Given the description of an element on the screen output the (x, y) to click on. 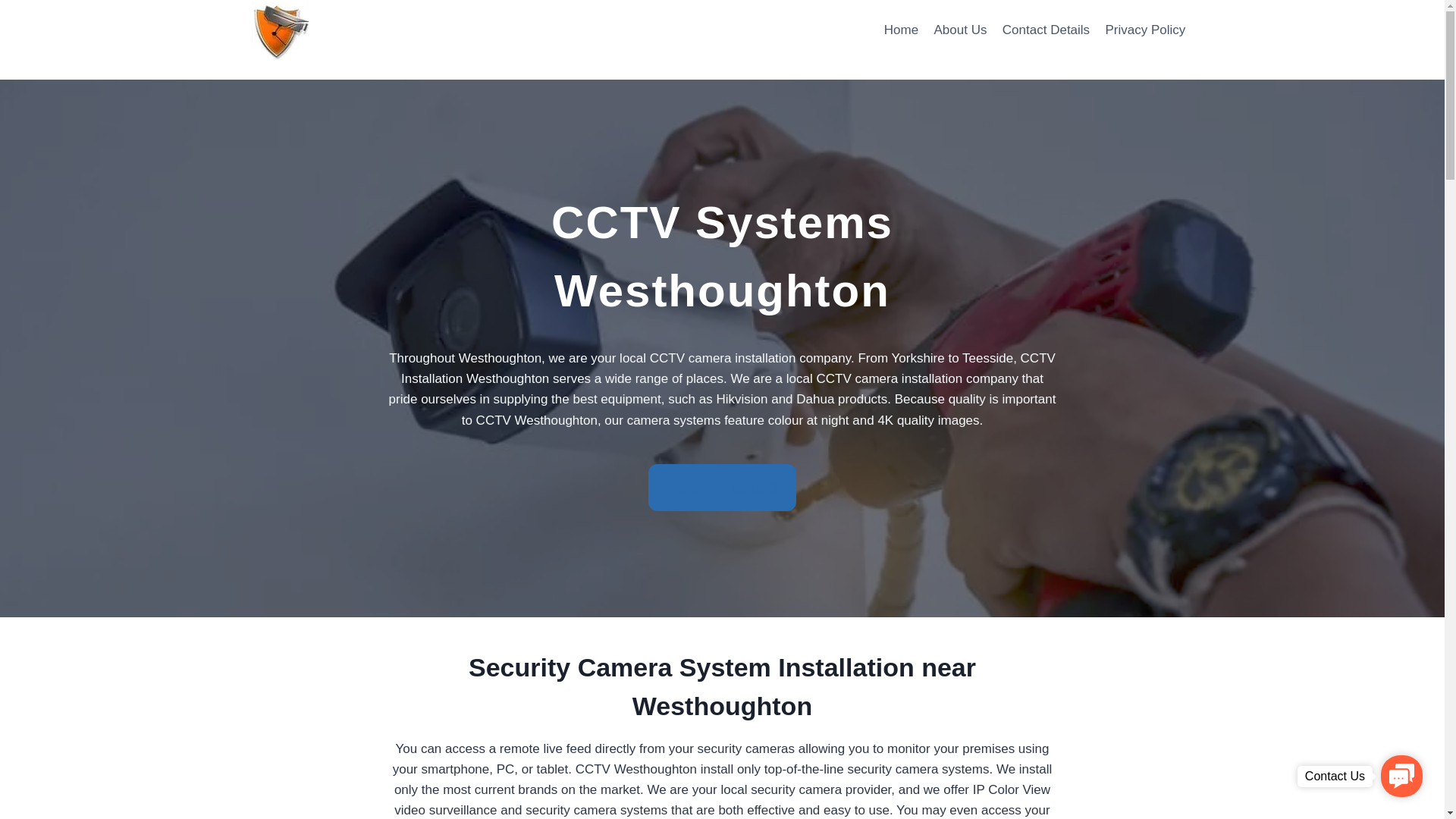
Home (901, 30)
About Us (960, 30)
Contact Details (1045, 30)
Privacy Policy (1144, 30)
